Given the description of an element on the screen output the (x, y) to click on. 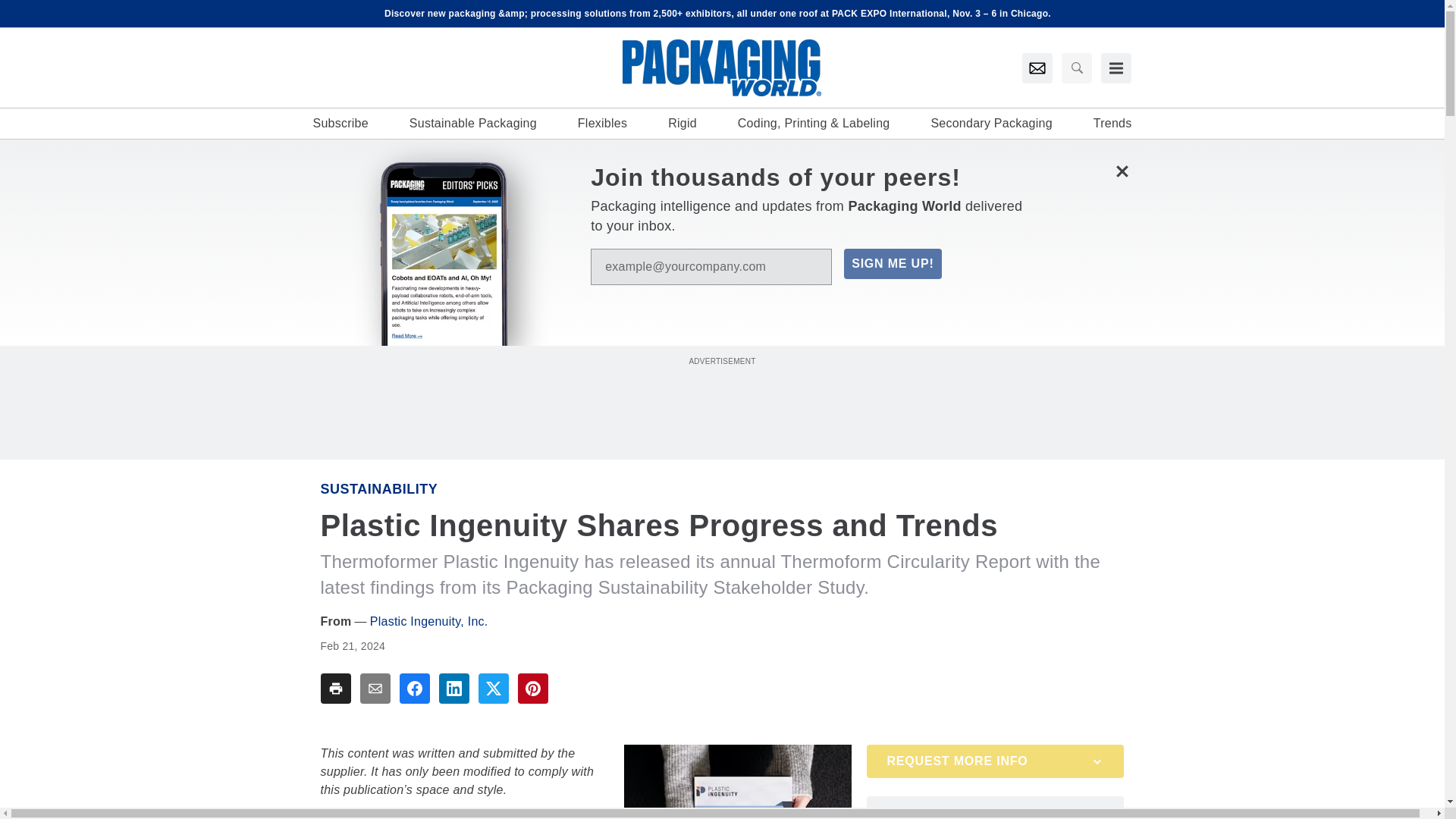
Share To twitter (492, 688)
Share To facebook (413, 688)
Sustainability (379, 488)
Sustainable Packaging (473, 123)
Share To pinterest (531, 688)
Share To linkedin (453, 688)
Rigid (682, 123)
Share To print (335, 688)
SIGN ME UP! (892, 263)
Secondary Packaging (990, 123)
